Given the description of an element on the screen output the (x, y) to click on. 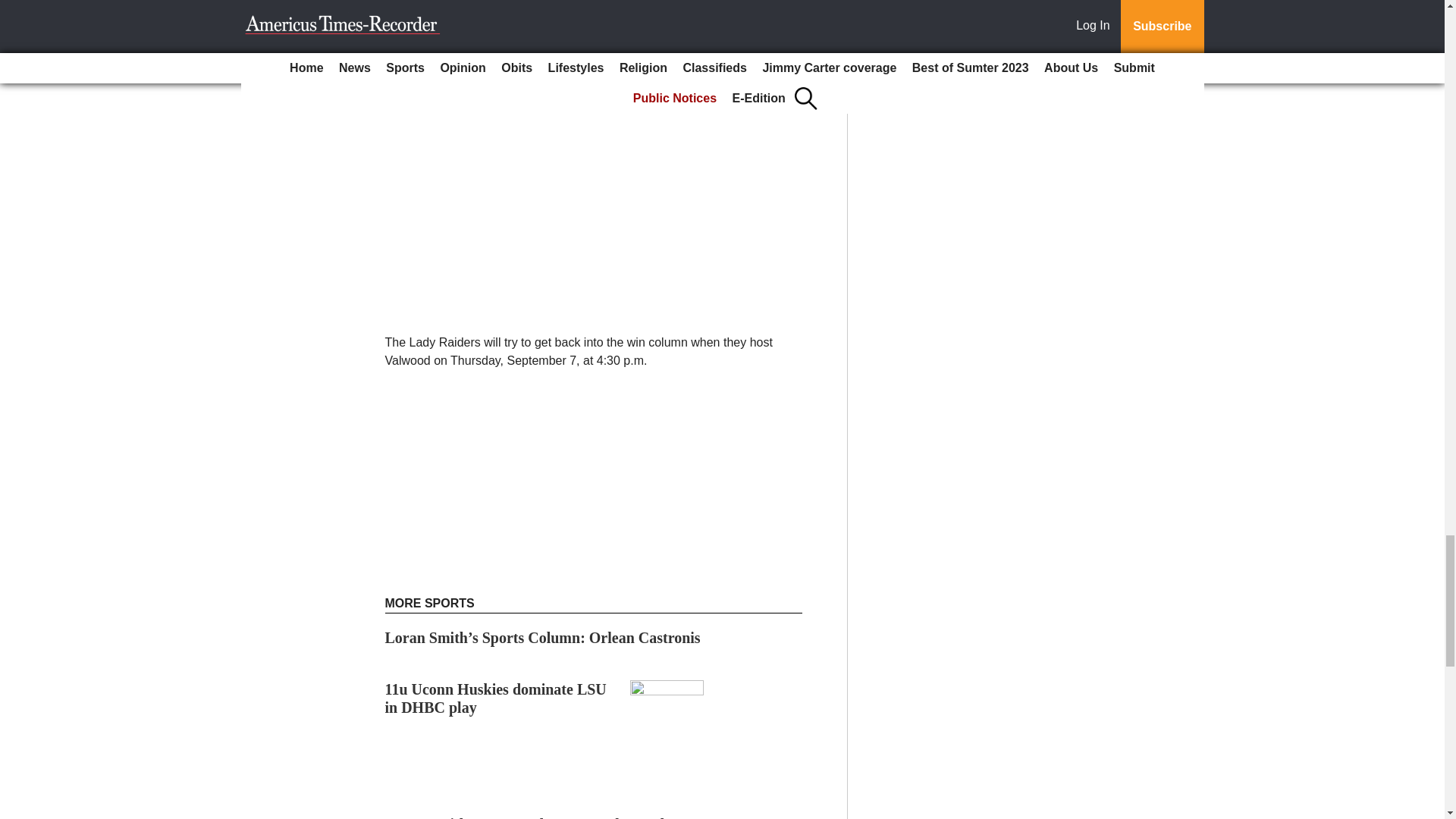
11u Uconn Huskies dominate LSU in DHBC play (496, 697)
11u Uconn Huskies dominate LSU in DHBC play (496, 697)
